Given the description of an element on the screen output the (x, y) to click on. 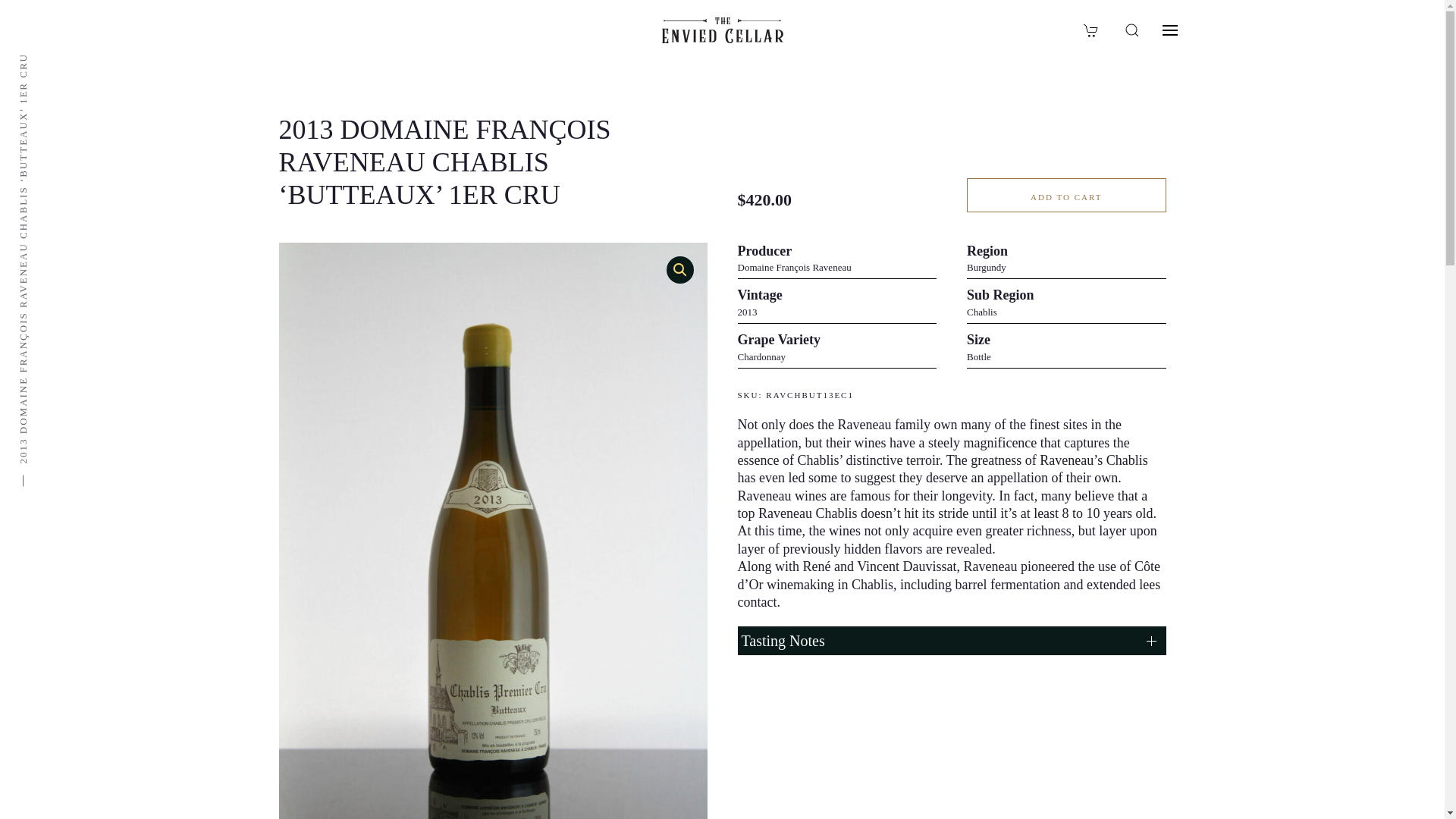
Tasting Notes (951, 640)
ADD TO CART (1066, 195)
SKU: RAVCHBUT13EC1 (951, 395)
Search Wines (1131, 29)
Tasting Notes (951, 640)
ADD TO CART (1066, 195)
